Given the description of an element on the screen output the (x, y) to click on. 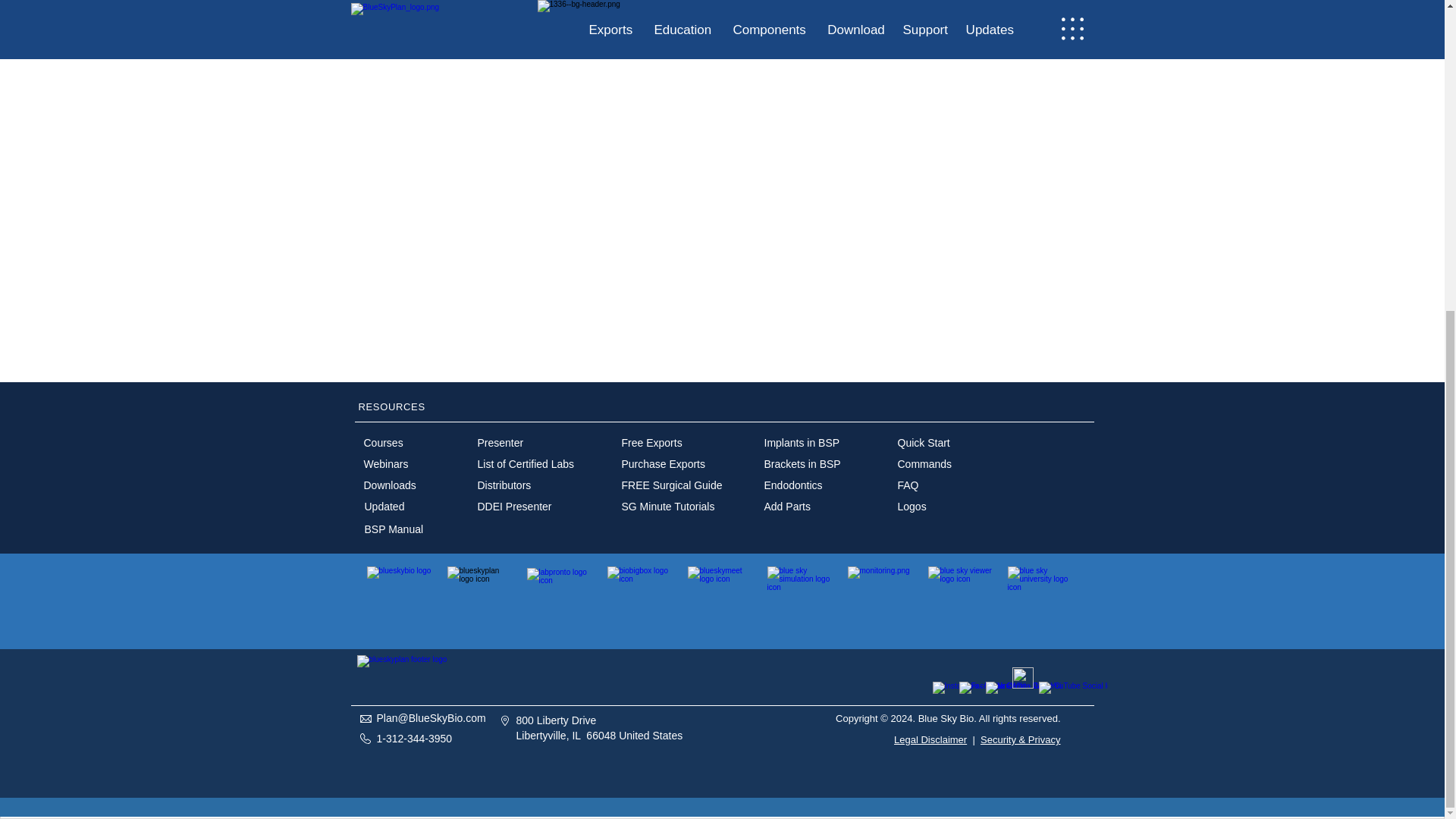
List of Certified Labs (526, 463)
FREE Surgical Guide (671, 485)
Quick Start (924, 442)
Logos (912, 506)
Presenter (500, 442)
Distributors (504, 485)
BSP Manual (393, 529)
Add Parts (787, 506)
Implants in BSP (802, 442)
SG Minute Tutorials (667, 506)
FAQ (908, 485)
Updated (384, 506)
Commands (925, 463)
DDEI Presenter (514, 506)
Endodontics (793, 485)
